Given the description of an element on the screen output the (x, y) to click on. 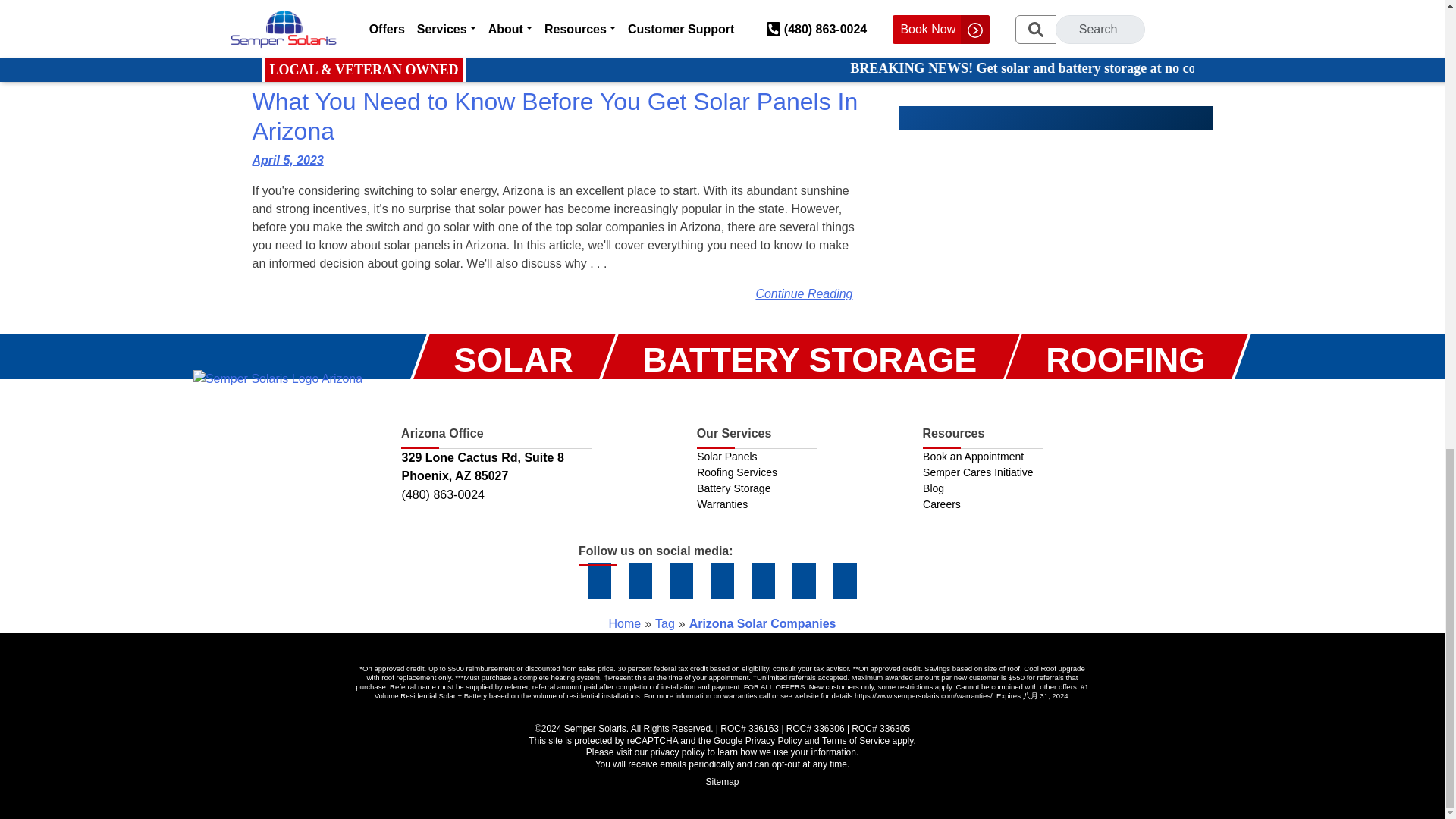
April 5, 2023 (287, 160)
What You Need to Know Before You Get Solar Panels In Arizona (555, 115)
Call Semper Solaris Arizona Office (496, 495)
Semper Solaris (277, 378)
Arizona Address (496, 466)
Continue Reading (803, 16)
